Given the description of an element on the screen output the (x, y) to click on. 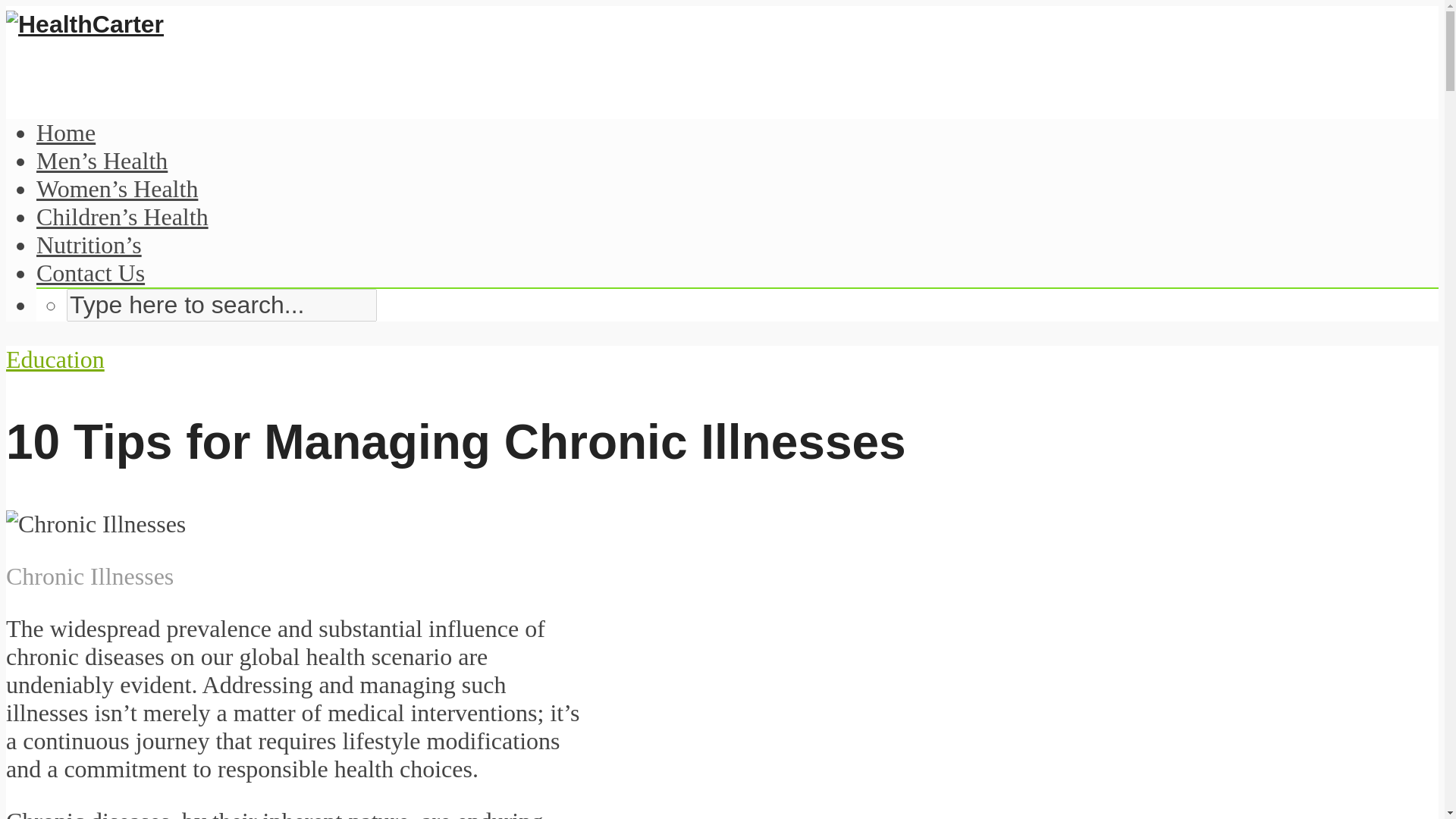
Type here to search... (221, 305)
Education (54, 359)
Type here to search... (221, 305)
Contact Us (90, 272)
Home (66, 132)
HealthCarter (84, 23)
